Given the description of an element on the screen output the (x, y) to click on. 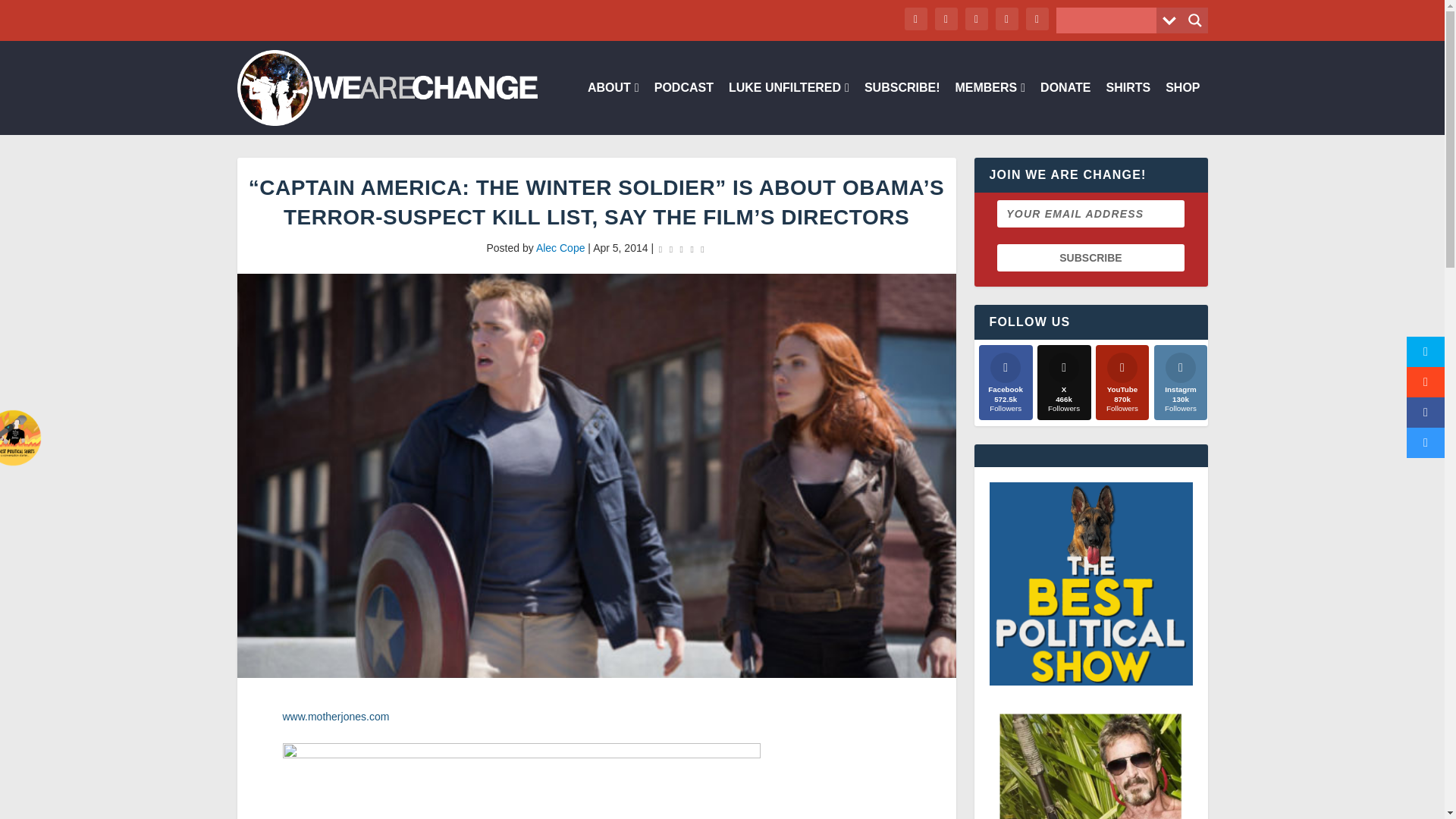
ABOUT (613, 108)
Subscribe (1090, 257)
LUKE UNFILTERED (788, 108)
Rating: 0.00 (681, 248)
Posts by Alec Cope (560, 247)
About (613, 108)
SUBSCRIBE! (902, 108)
MEMBERS (990, 108)
DONATE (1065, 108)
PODCAST (683, 108)
